Given the description of an element on the screen output the (x, y) to click on. 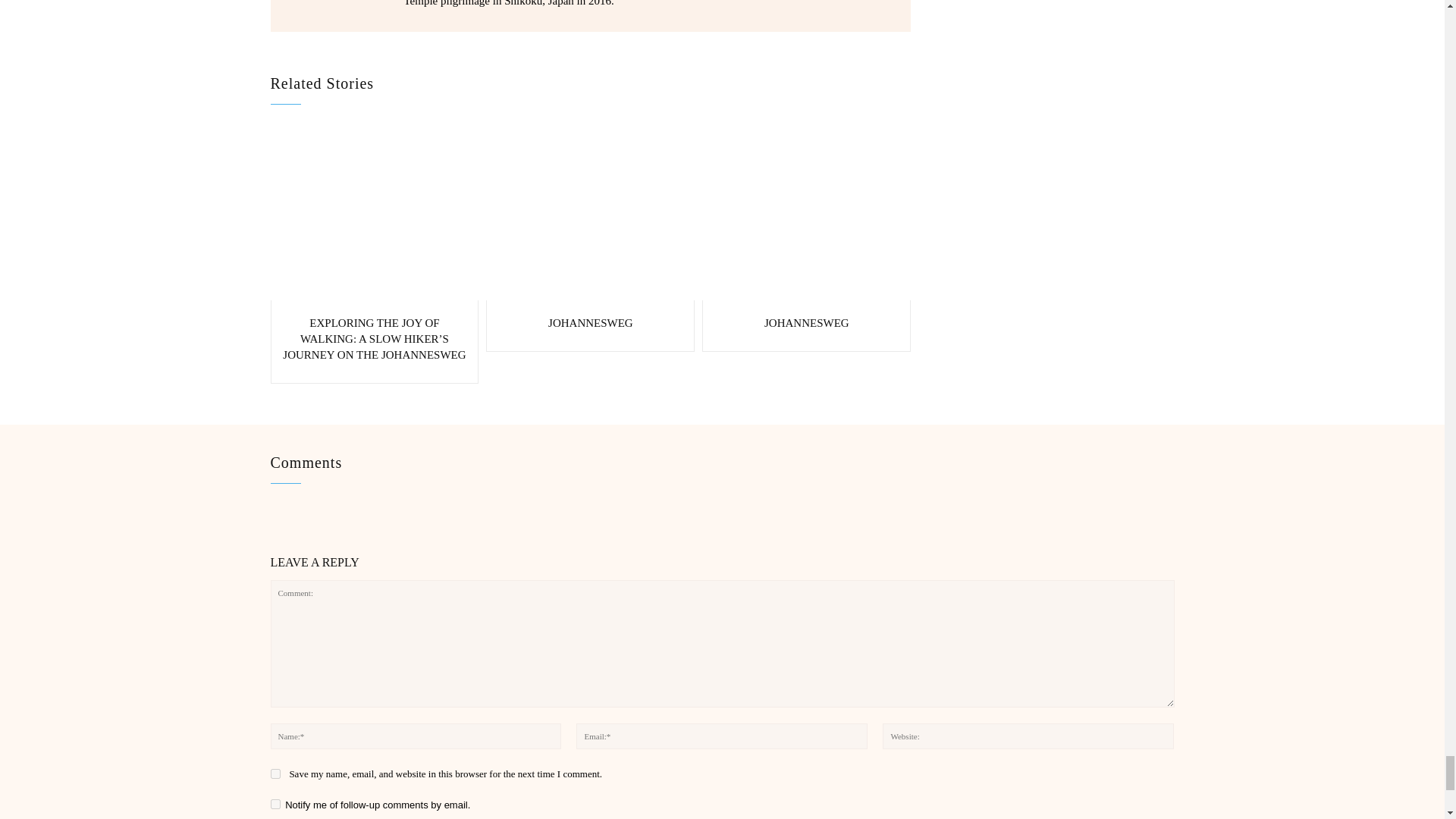
subscribe (274, 804)
yes (274, 773)
